Given the description of an element on the screen output the (x, y) to click on. 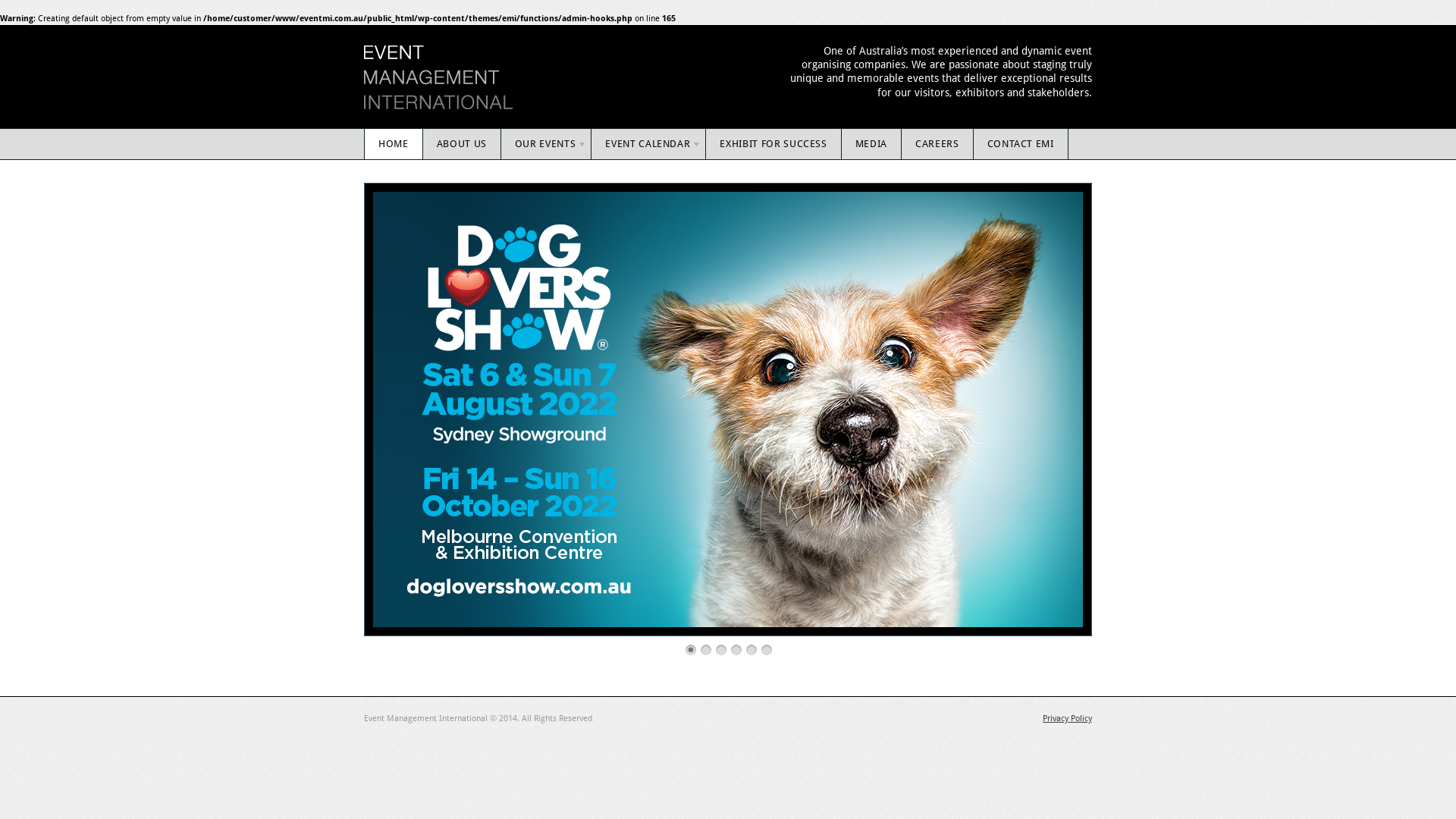
Privacy Policy Element type: text (1067, 718)
6 Element type: text (766, 649)
CONTACT EMI Element type: text (1020, 143)
4 Element type: text (736, 649)
3 Element type: text (721, 649)
1 Element type: text (690, 649)
2 Element type: text (705, 649)
5 Element type: text (751, 649)
MEDIA Element type: text (871, 143)
EXHIBIT FOR SUCCESS Element type: text (773, 143)
HOME Element type: text (393, 143)
ABOUT US Element type: text (462, 143)
CAREERS Element type: text (937, 143)
